Given the description of an element on the screen output the (x, y) to click on. 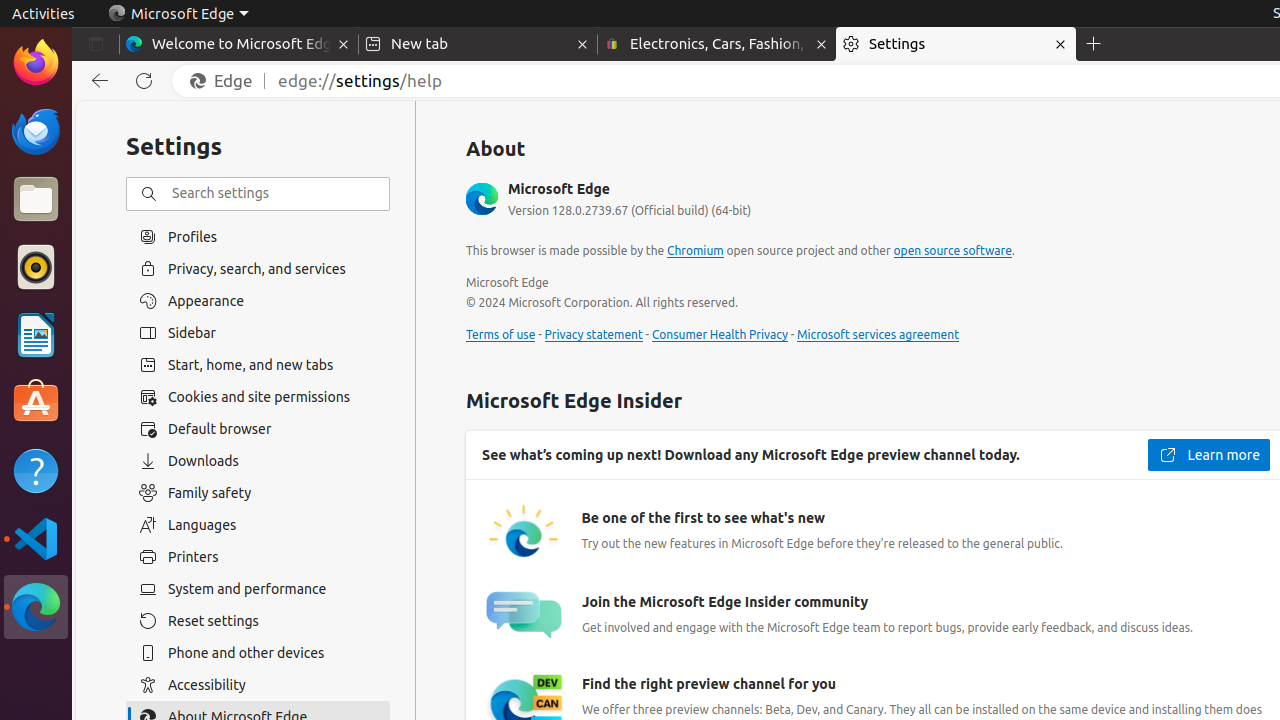
Start, home, and new tabs Element type: tree-item (258, 365)
Terms of use Element type: link (501, 335)
Family safety Element type: tree-item (258, 493)
Microsoft services agreement Element type: link (878, 335)
Accessibility Element type: tree-item (258, 685)
